Given the description of an element on the screen output the (x, y) to click on. 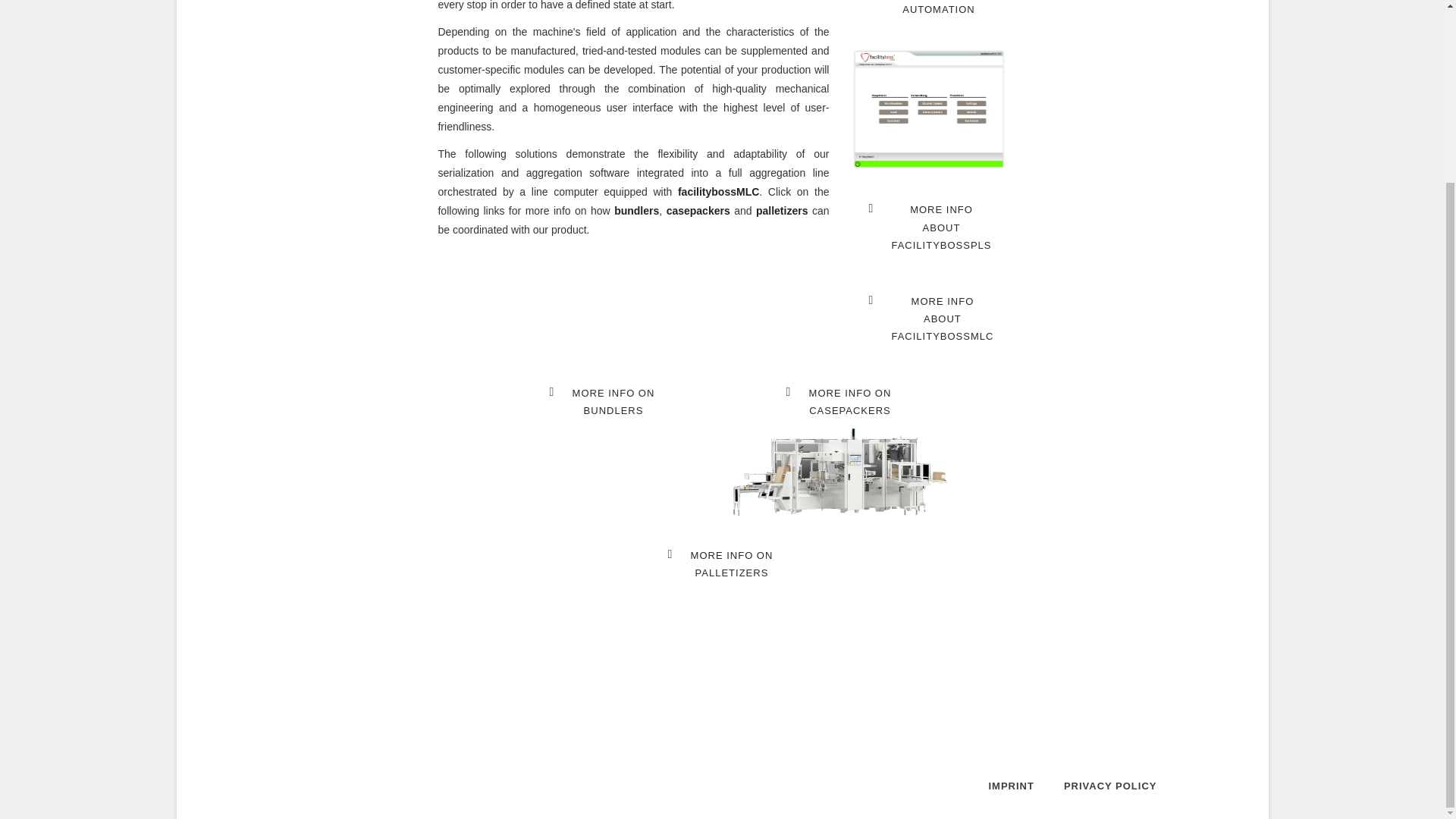
MORE INFO ABOUT FACILITYBOSSMLC (932, 318)
bundlers (636, 210)
MORE INFO ABOUT FACILITYBOSSPLS (931, 227)
MORE INFO ABOUT PESTER PAC AUTOMATION (603, 401)
palletizers (841, 401)
facilitybossMLC (928, 13)
casepackers (781, 210)
